Given the description of an element on the screen output the (x, y) to click on. 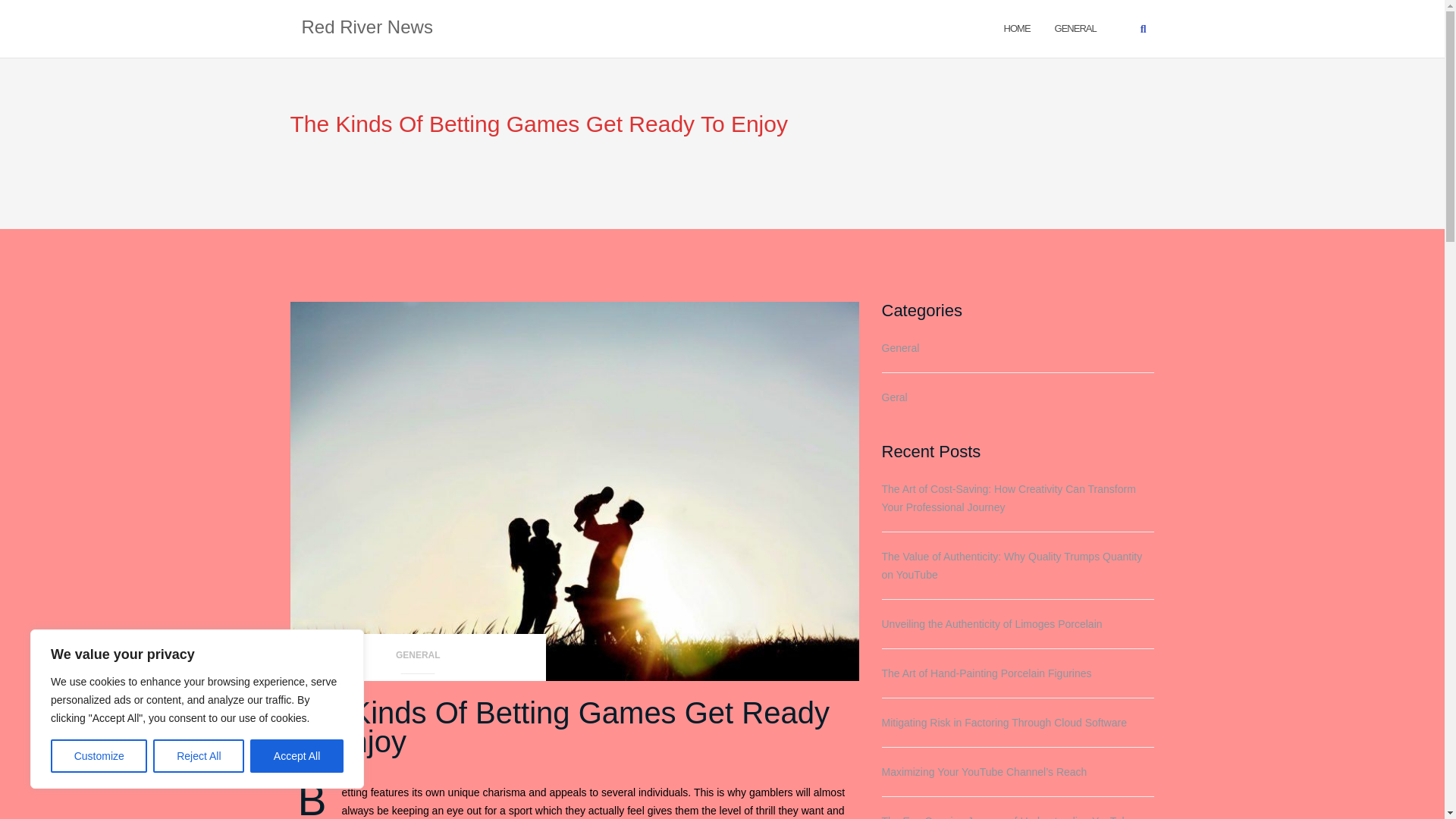
Customize (98, 756)
General (1075, 28)
Red River News (366, 28)
GENERAL (1075, 28)
GENERAL (417, 660)
Accept All (296, 756)
Reject All (198, 756)
The Kinds Of Betting Games Get Ready To Enjoy (558, 727)
